Given the description of an element on the screen output the (x, y) to click on. 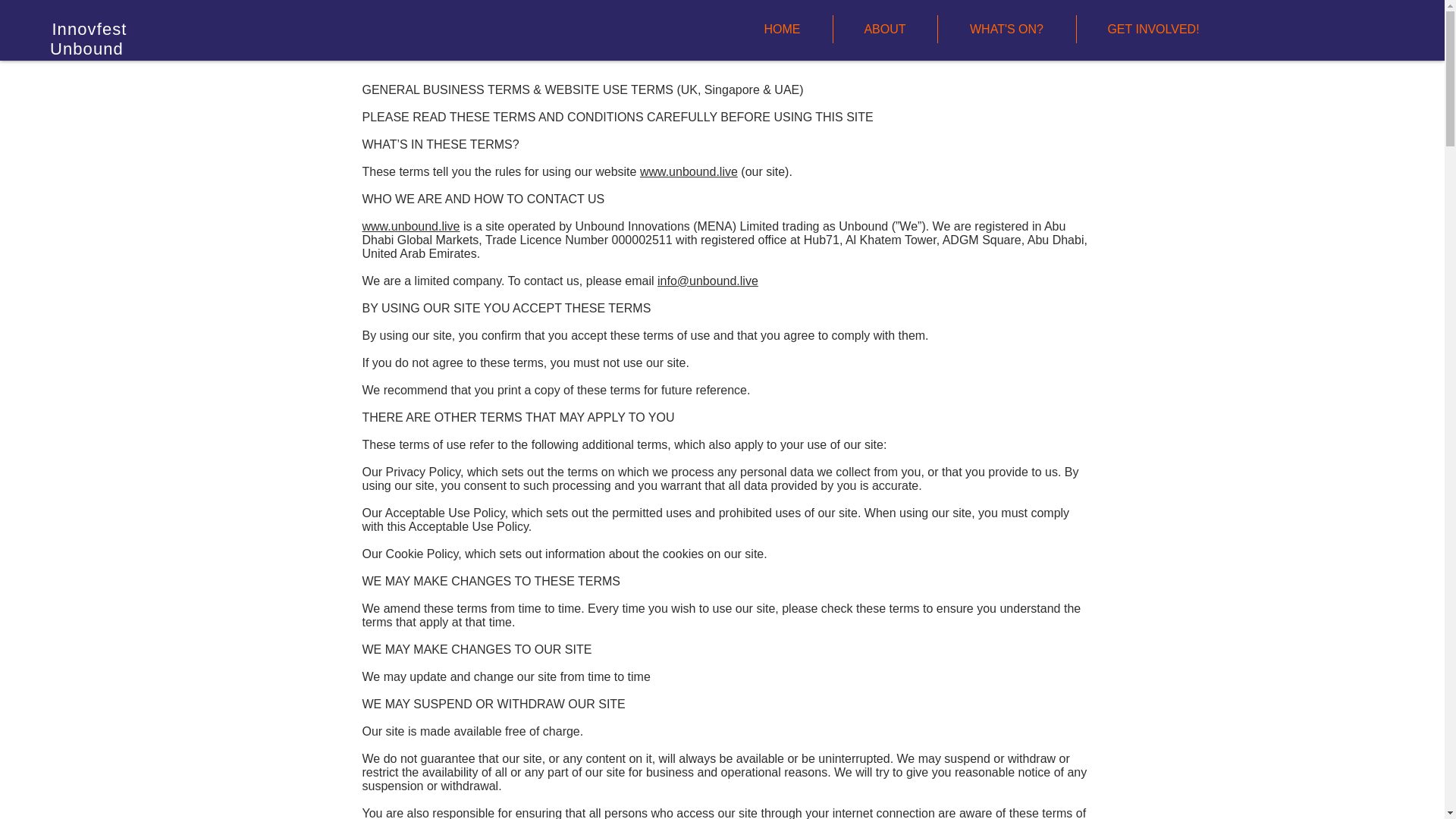
www.unbound.live (411, 226)
Innovfest Unbound  (89, 38)
www.unbound.live (689, 171)
HOME (782, 29)
